Given the description of an element on the screen output the (x, y) to click on. 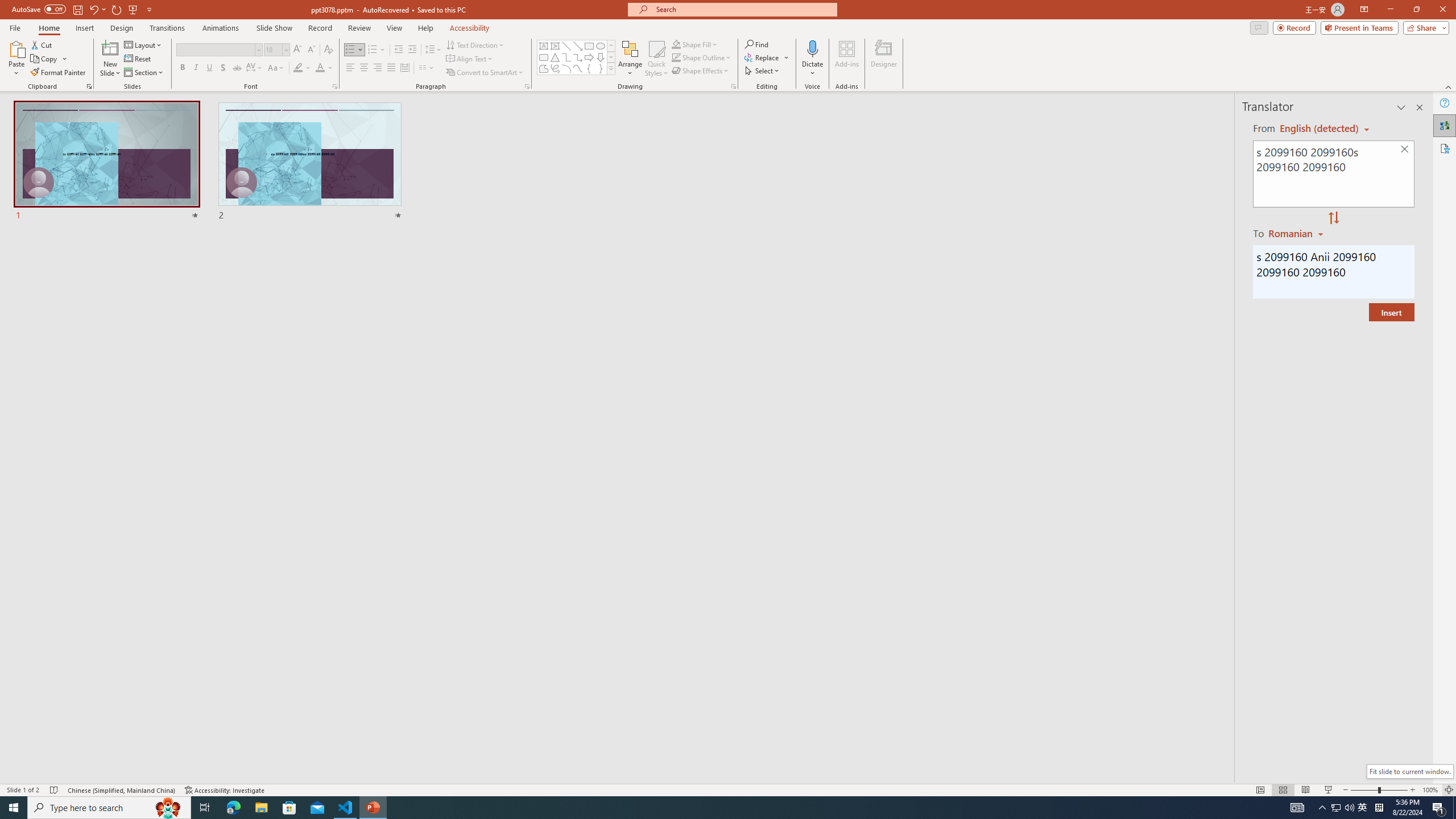
Connector: Elbow (566, 57)
Convert to SmartArt (485, 72)
Find... (756, 44)
Paragraph... (526, 85)
Decrease Font Size (310, 49)
Align Left (349, 67)
Italic (195, 67)
